Given the description of an element on the screen output the (x, y) to click on. 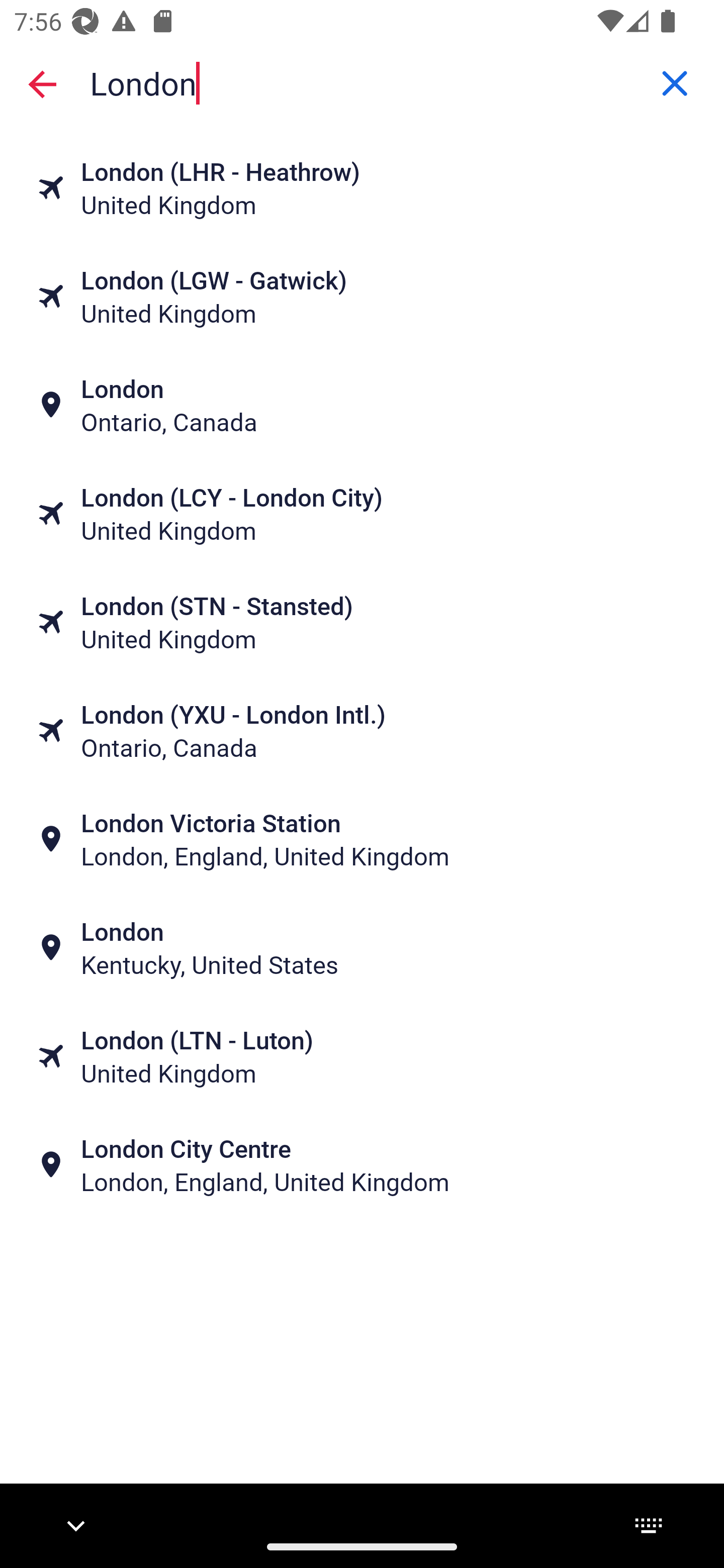
Clear Pick-up (674, 82)
Pick-up, London (361, 82)
Close search screen (41, 83)
